Given the description of an element on the screen output the (x, y) to click on. 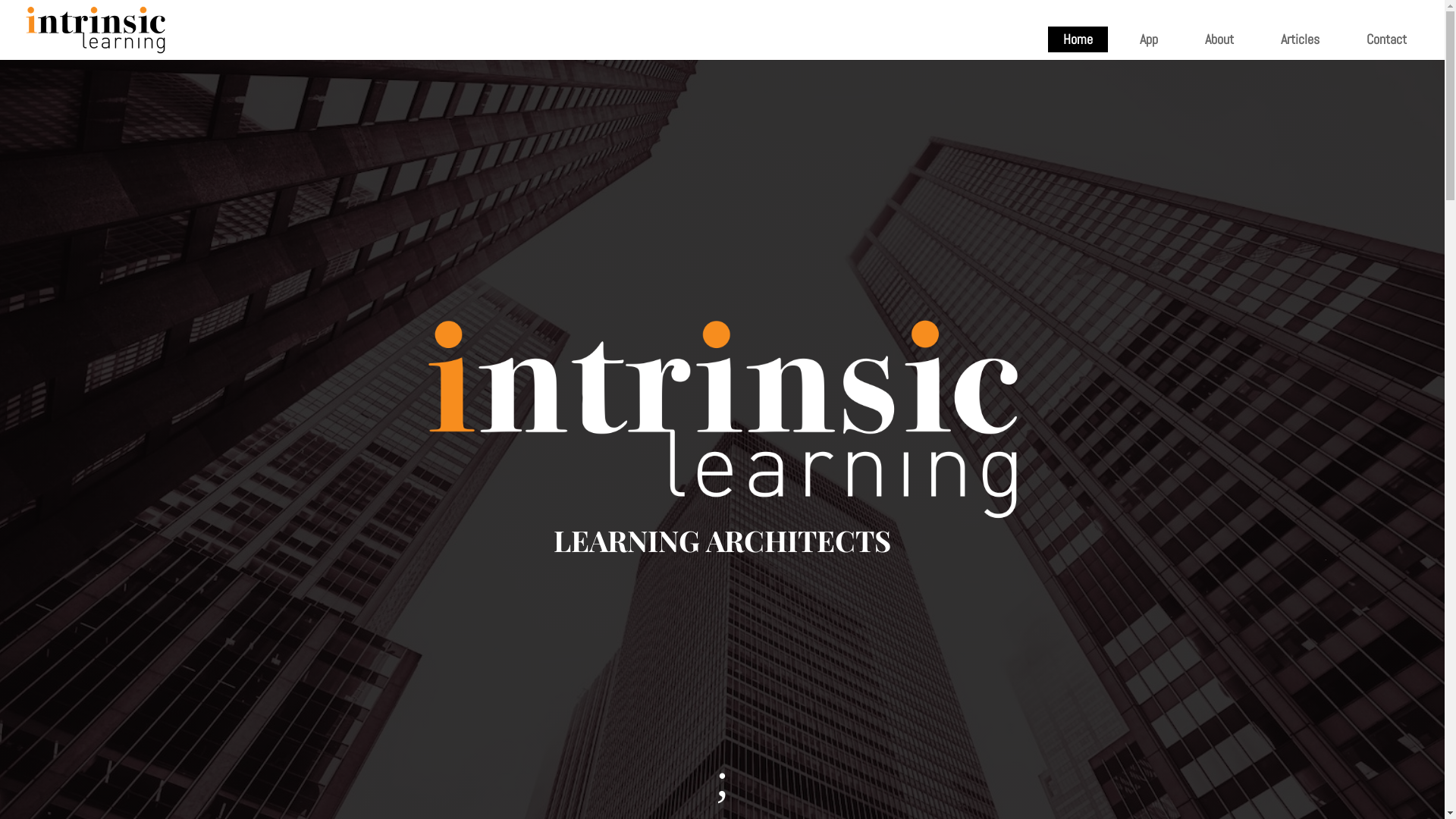
About Element type: text (1218, 39)
App Element type: text (1148, 39)
Home Element type: text (1077, 39)
Articles Element type: text (1299, 39)
Contact Element type: text (1386, 39)
; Element type: text (722, 779)
